Given the description of an element on the screen output the (x, y) to click on. 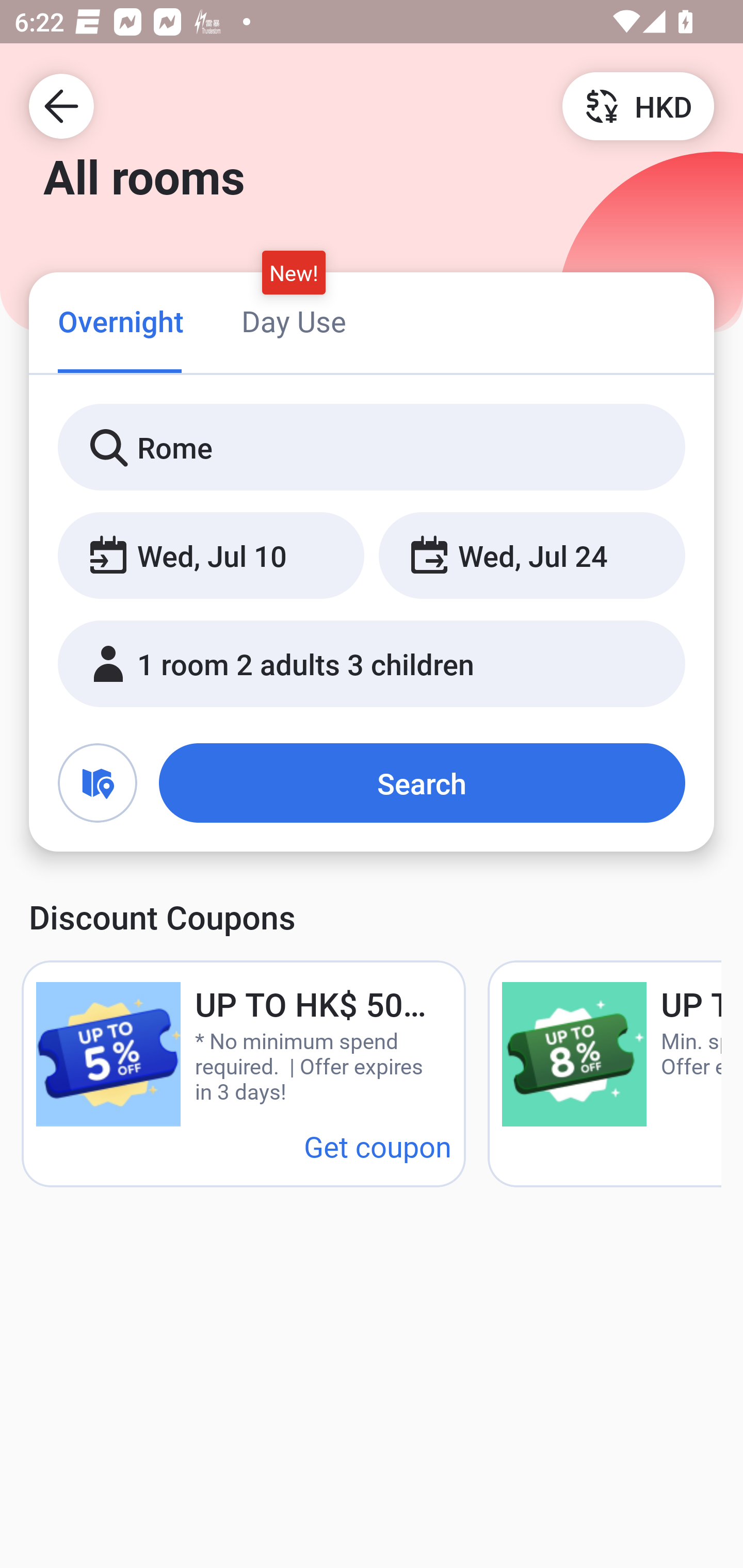
HKD (638, 105)
New! (294, 272)
Day Use (293, 321)
Rome (371, 447)
Wed, Jul 10 (210, 555)
Wed, Jul 24 (531, 555)
1 room 2 adults 3 children (371, 663)
Search (422, 783)
Get coupon (377, 1146)
